Given the description of an element on the screen output the (x, y) to click on. 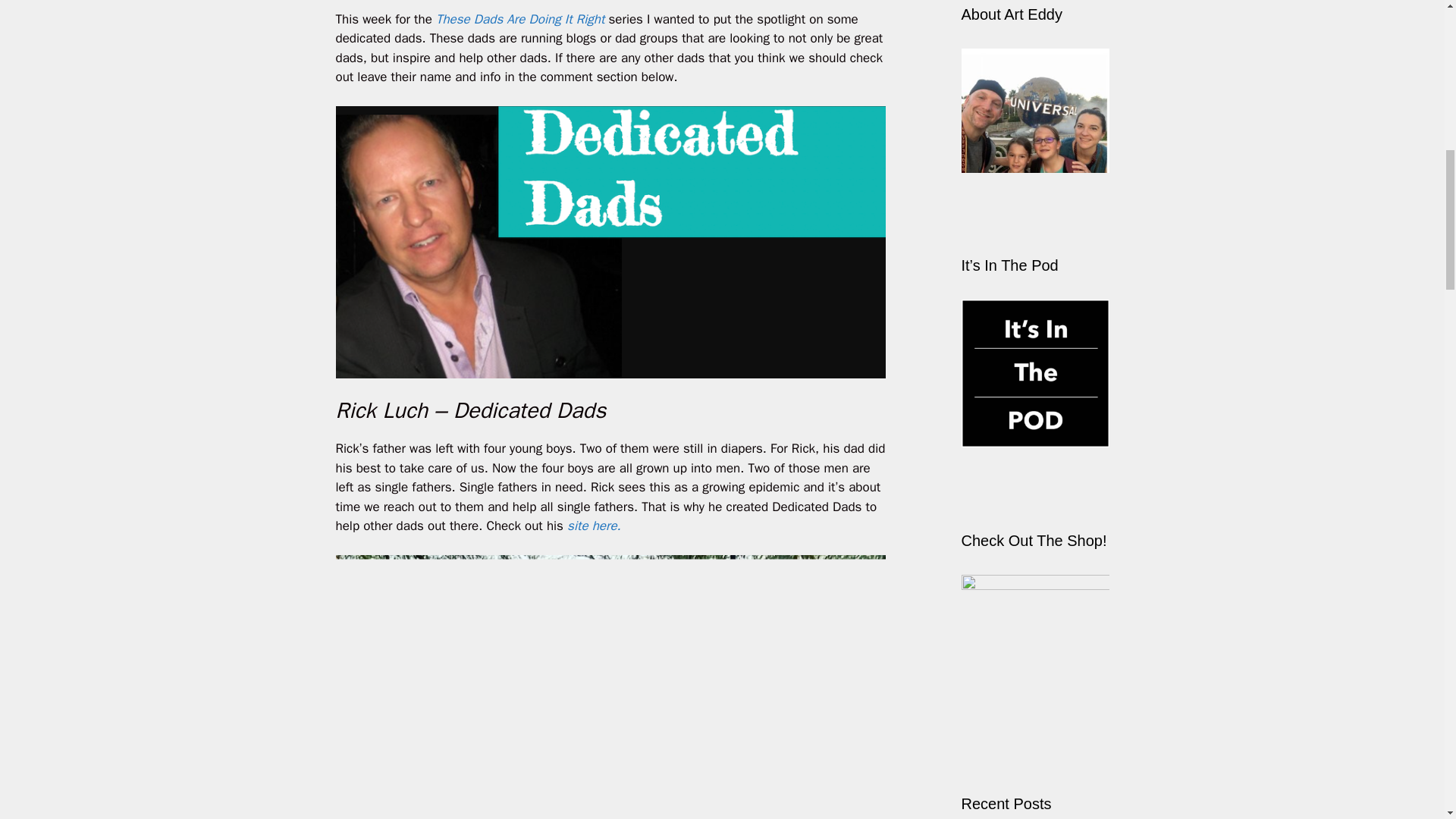
These Dads Are Doing It Right (519, 19)
site here.  (595, 525)
